Given the description of an element on the screen output the (x, y) to click on. 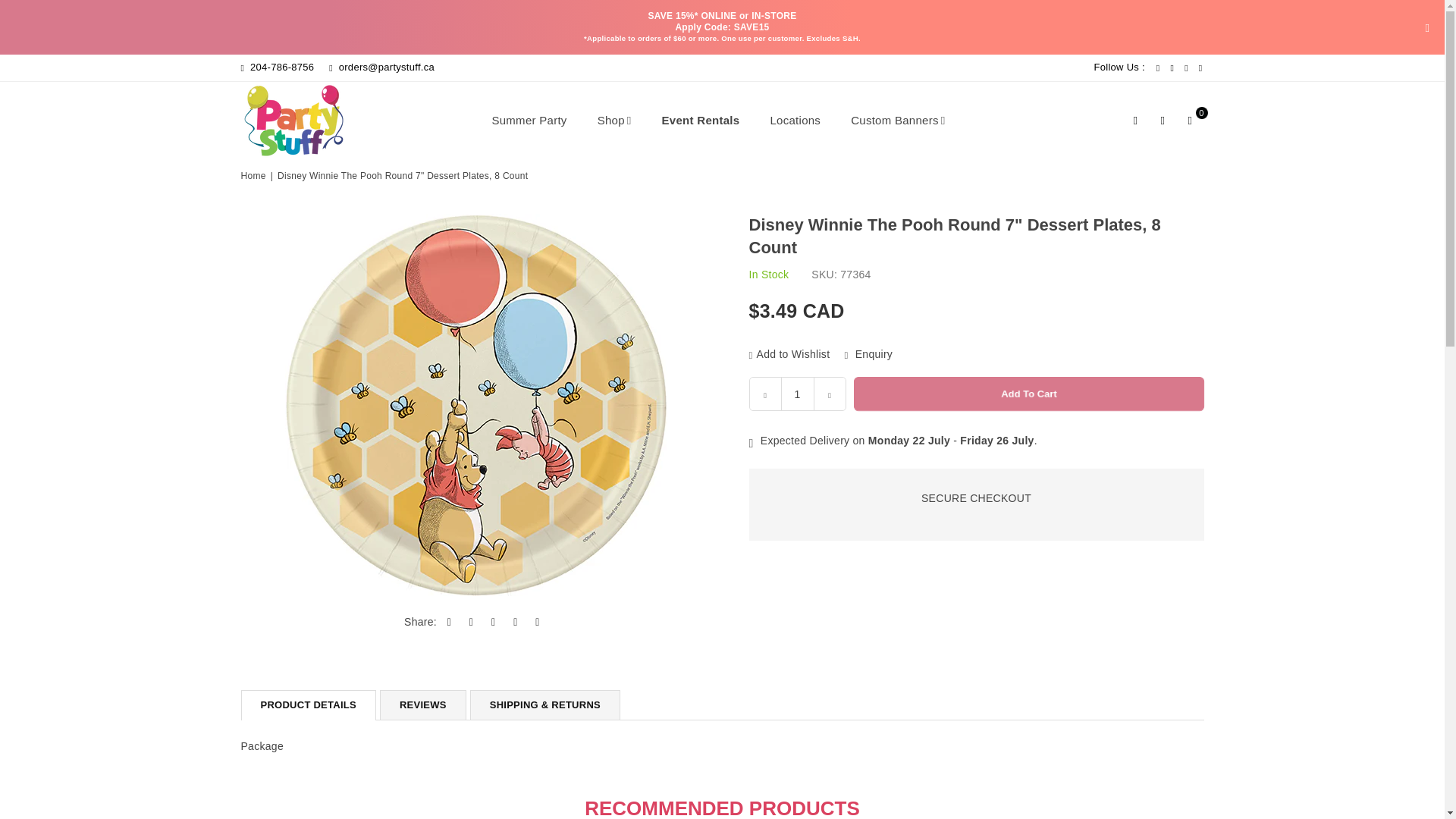
Pinterest (1171, 68)
Search (1136, 120)
Share on Whatsapp (516, 622)
Party Stuff on Pinterest (1171, 68)
204-786-8756 (277, 66)
Back to the home page (254, 175)
Party Stuff on Instagram (1186, 68)
Share by Email (537, 622)
Share on Linked In (493, 622)
Quantity (797, 393)
Party Stuff on Linkedin (1200, 68)
Pin on Pinterest (471, 622)
Linkedin (1200, 68)
Wishlist (1163, 120)
1 (796, 393)
